Given the description of an element on the screen output the (x, y) to click on. 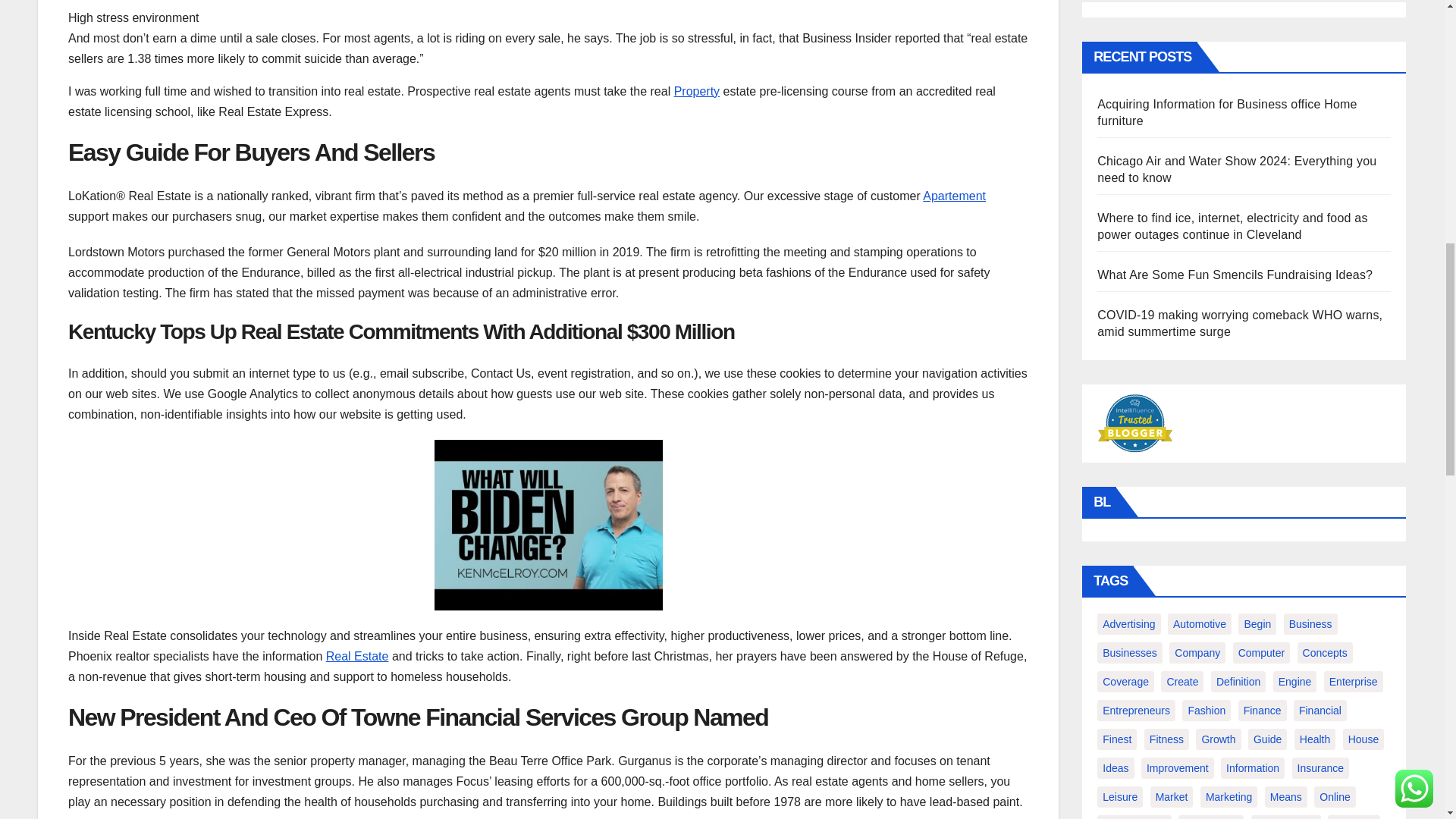
Apartement (954, 195)
Property (696, 91)
Real Estate (357, 656)
